Given the description of an element on the screen output the (x, y) to click on. 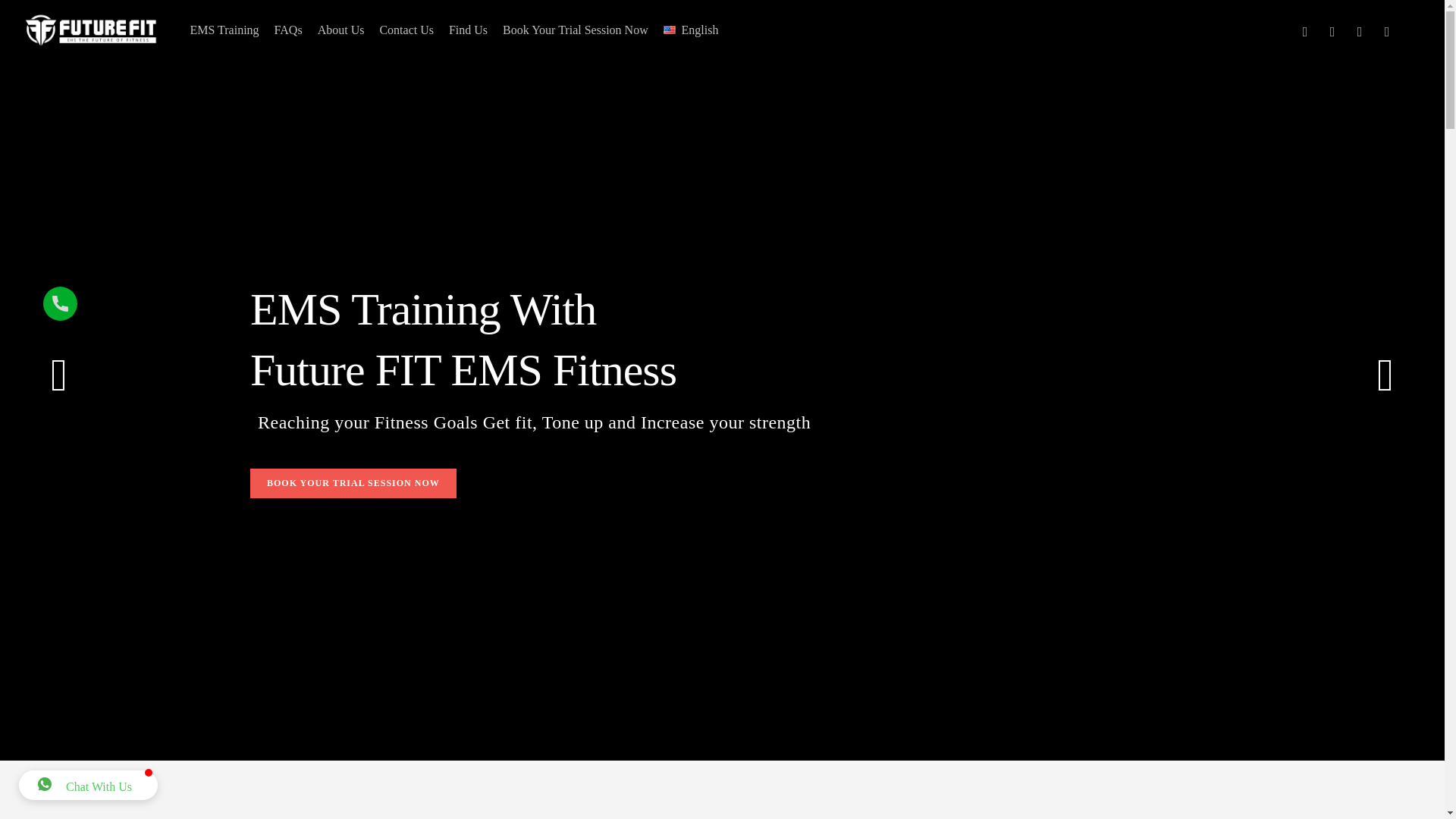
EMS Training (224, 30)
Find Us (468, 30)
Chat With Us (87, 785)
Contact Us (406, 30)
Book Your Trial Session Now (575, 30)
FAQs (288, 30)
BOOK YOUR TRIAL SESSION NOW (353, 482)
English (691, 30)
About Us (341, 30)
